Given the description of an element on the screen output the (x, y) to click on. 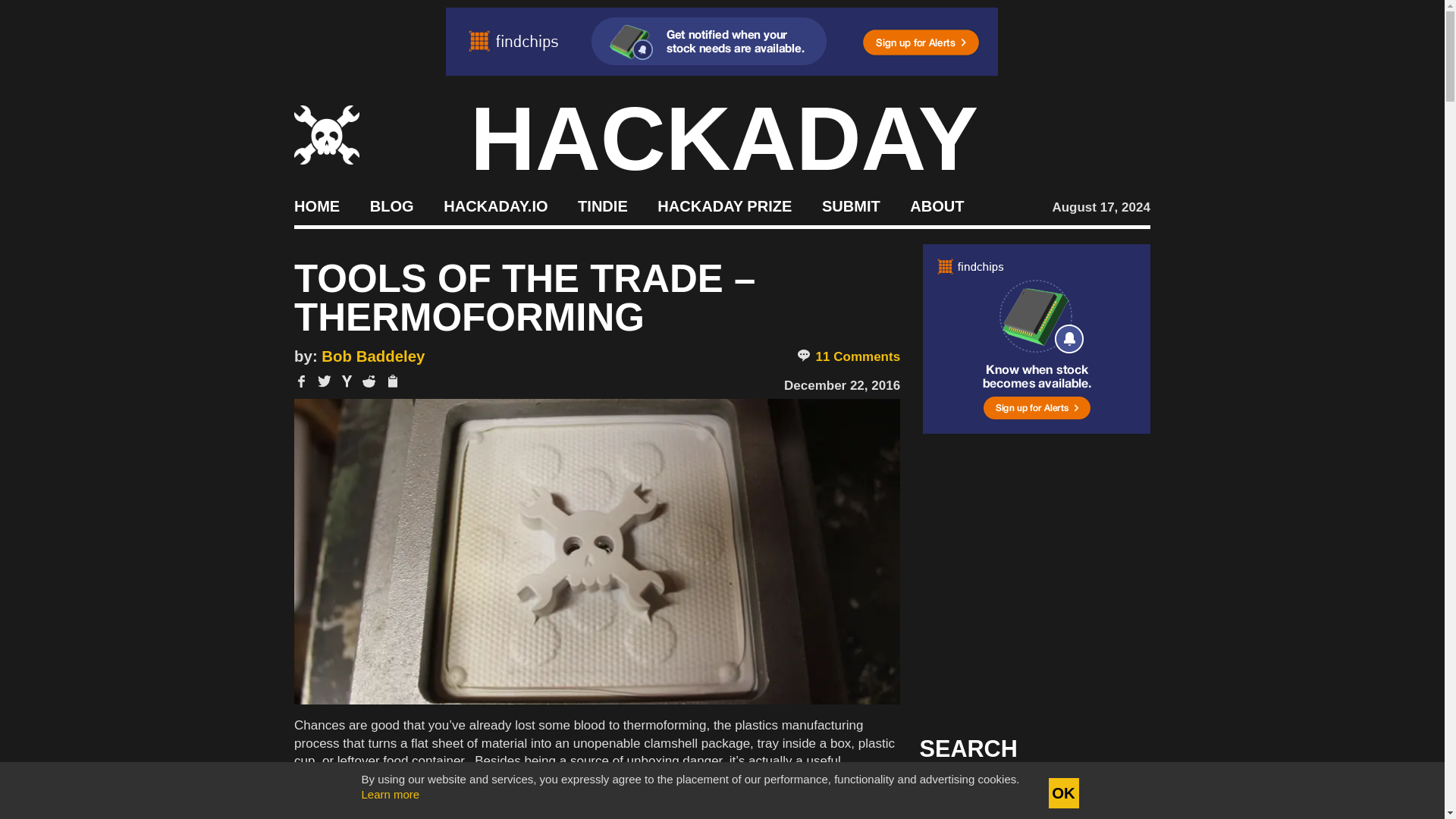
Search (1115, 792)
HACKADAY (724, 138)
Bob Baddeley (373, 356)
Share on Twitter (324, 381)
HACKADAY PRIZE (725, 205)
Share on Facebook (301, 381)
SUBMIT (851, 205)
HOME (316, 205)
Search (1115, 792)
Posts by Bob Baddeley (373, 356)
